Given the description of an element on the screen output the (x, y) to click on. 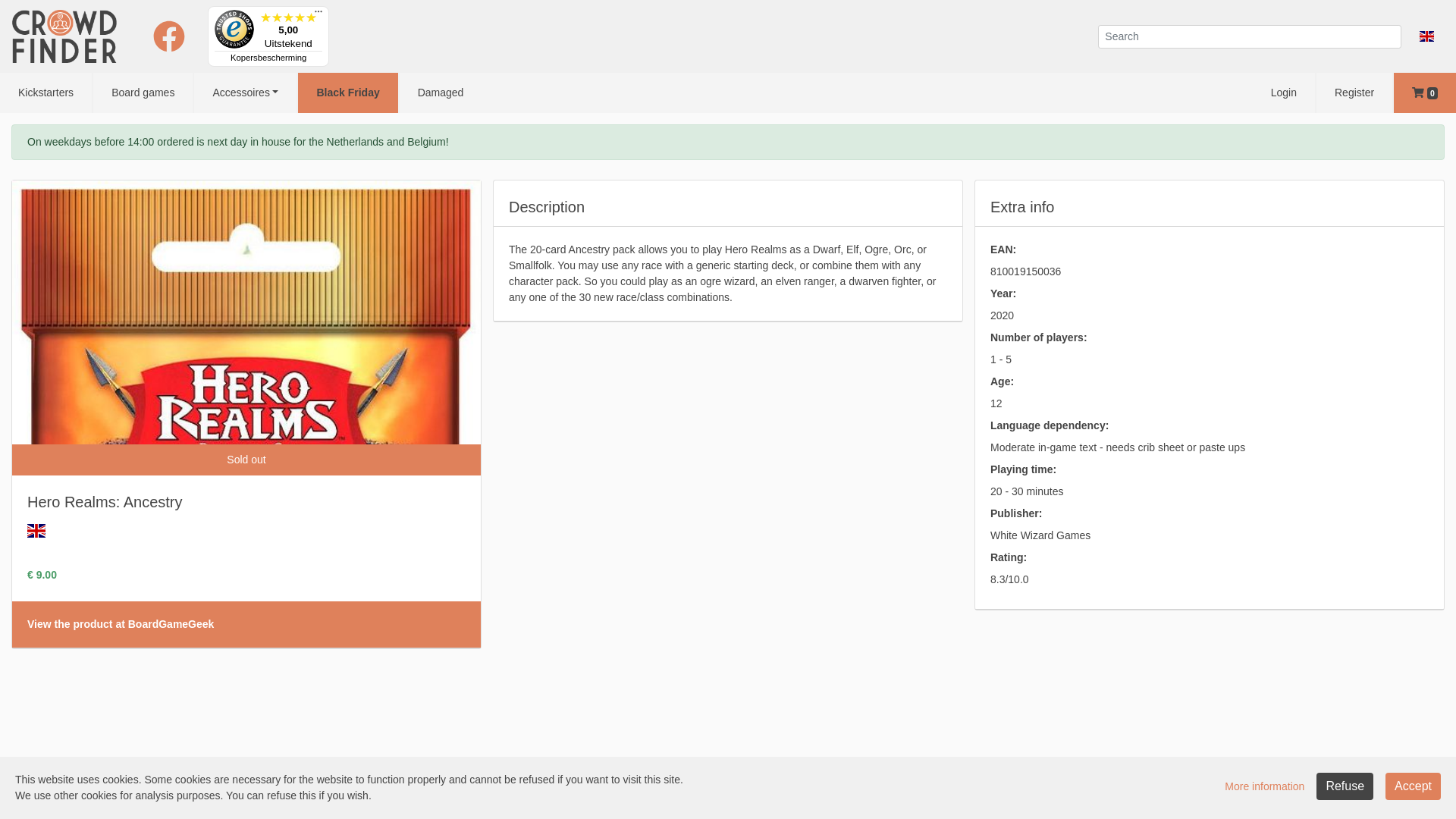
About us Element type: text (252, 797)
View the product at BoardGameGeek Element type: text (120, 624)
one part for regular board games Element type: text (500, 779)
Kickstarters Element type: text (45, 92)
Privacy statement Element type: text (808, 797)
one part for Kickstarter or Gamefound projects Element type: text (290, 779)
Refuse Element type: text (1344, 786)
Returns Element type: text (622, 797)
gb Element type: hover (1426, 35)
Understood Element type: text (1399, 786)
Black Friday Element type: text (347, 92)
Board games Element type: text (142, 92)
Accessoires Element type: text (245, 92)
Login Element type: text (1283, 92)
Disclaimer create Element type: text (440, 797)
Accept Element type: text (1412, 786)
Damaged Element type: text (440, 92)
0 Element type: text (1424, 92)
a Kickstarter of Gamefound project at CrowdFinder Element type: text (623, 795)
Pick-up and shipping Element type: text (542, 797)
gb Element type: hover (36, 530)
More information Element type: text (1264, 785)
Disclaimer participate Element type: text (337, 797)
Contact us Element type: text (887, 797)
Register Element type: text (1354, 92)
Terms and conditions Element type: text (703, 797)
